Given the description of an element on the screen output the (x, y) to click on. 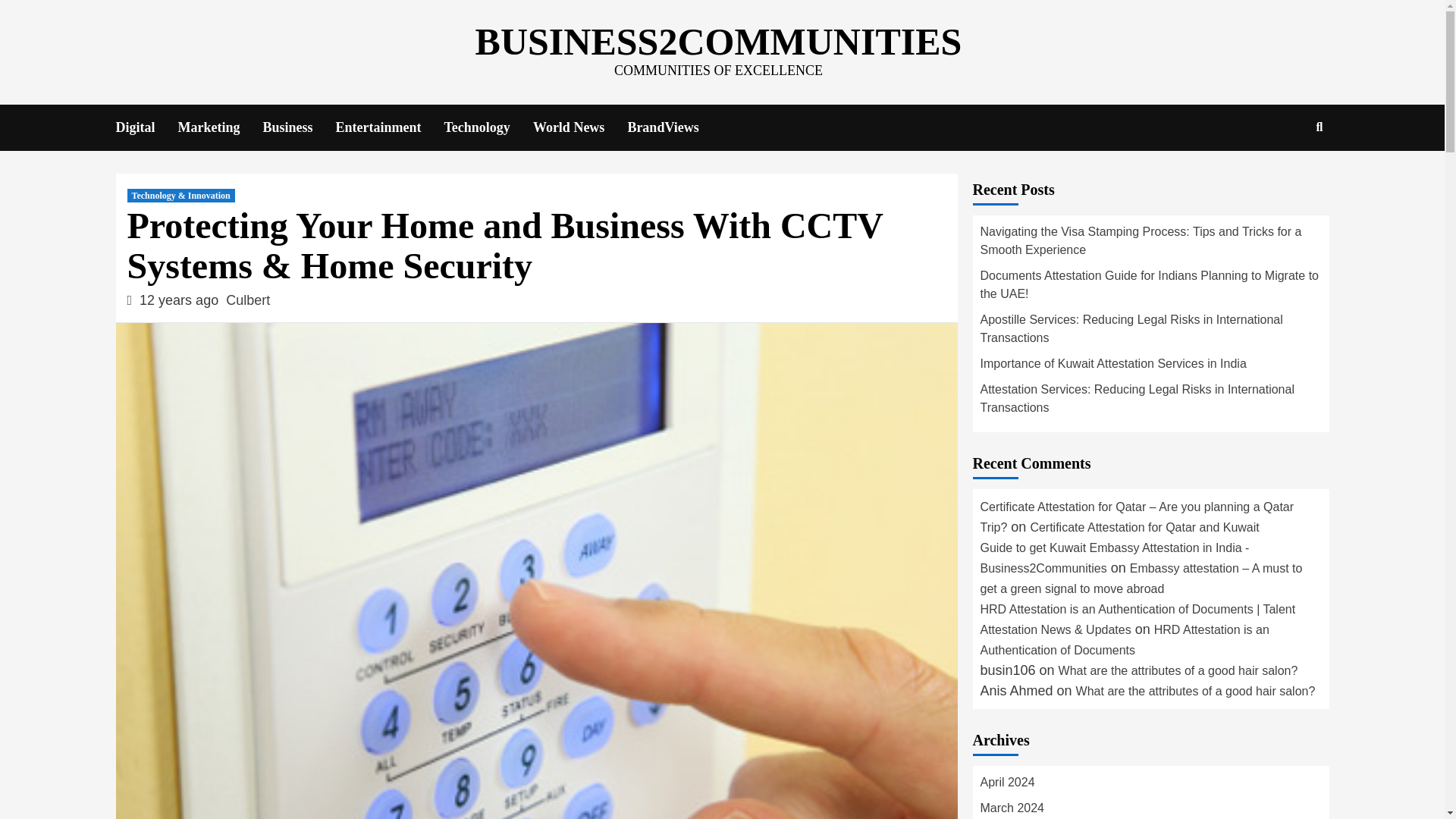
Importance of Kuwait Attestation Services in India (1149, 367)
Technology (488, 127)
BUSINESS2COMMUNITIES (719, 41)
BrandViews (673, 127)
Business (298, 127)
Search (1283, 175)
Marketing (219, 127)
Culbert (247, 299)
Entertainment (390, 127)
Digital (146, 127)
World News (579, 127)
